Given the description of an element on the screen output the (x, y) to click on. 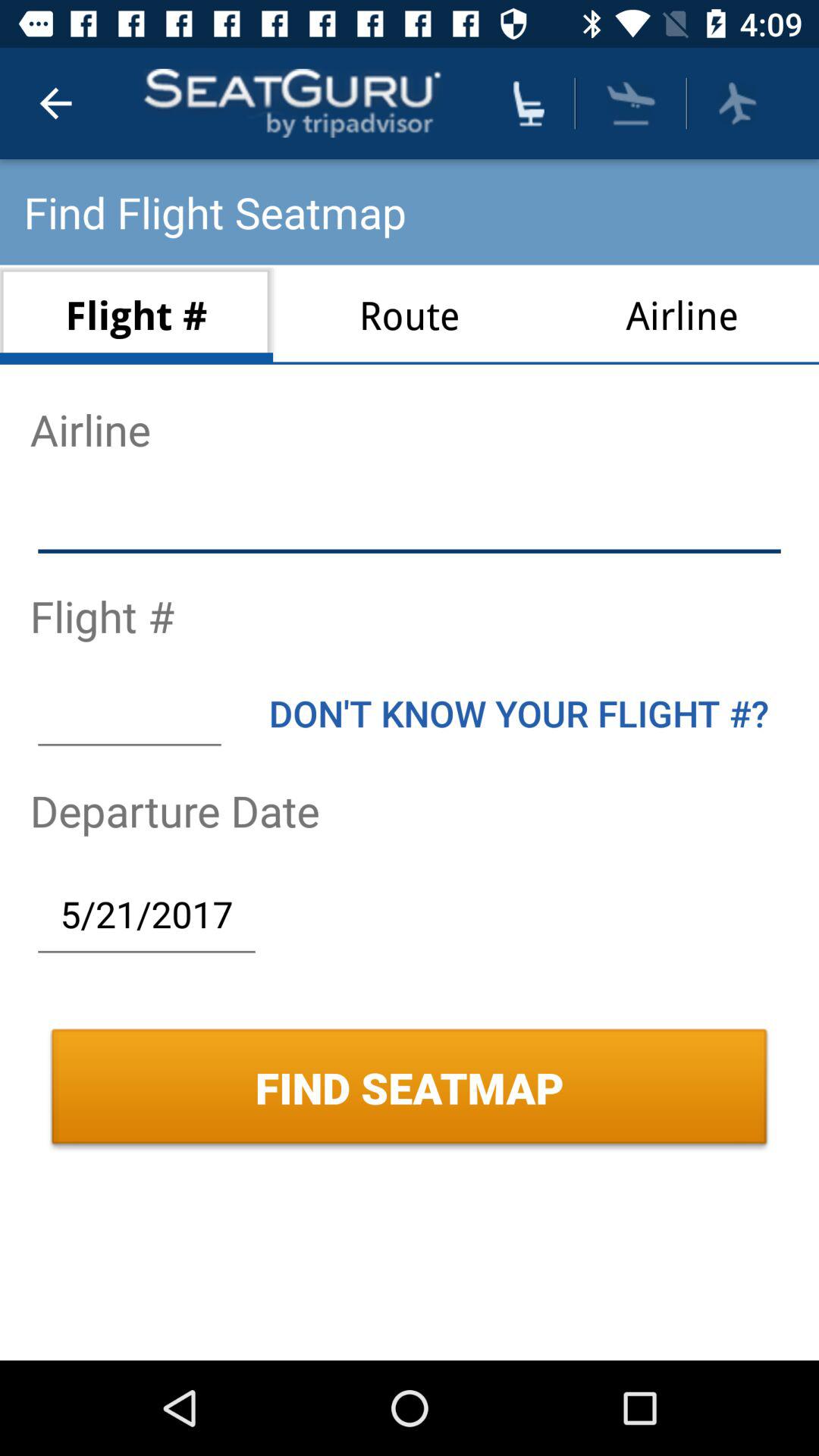
click item above the departure date icon (129, 712)
